Given the description of an element on the screen output the (x, y) to click on. 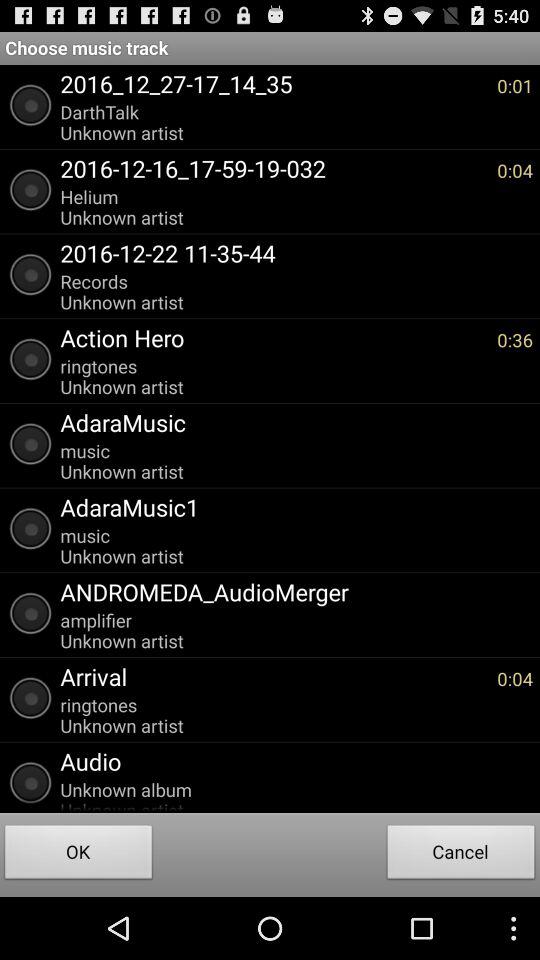
turn off item above the amplifier
unknown artist app (291, 591)
